Given the description of an element on the screen output the (x, y) to click on. 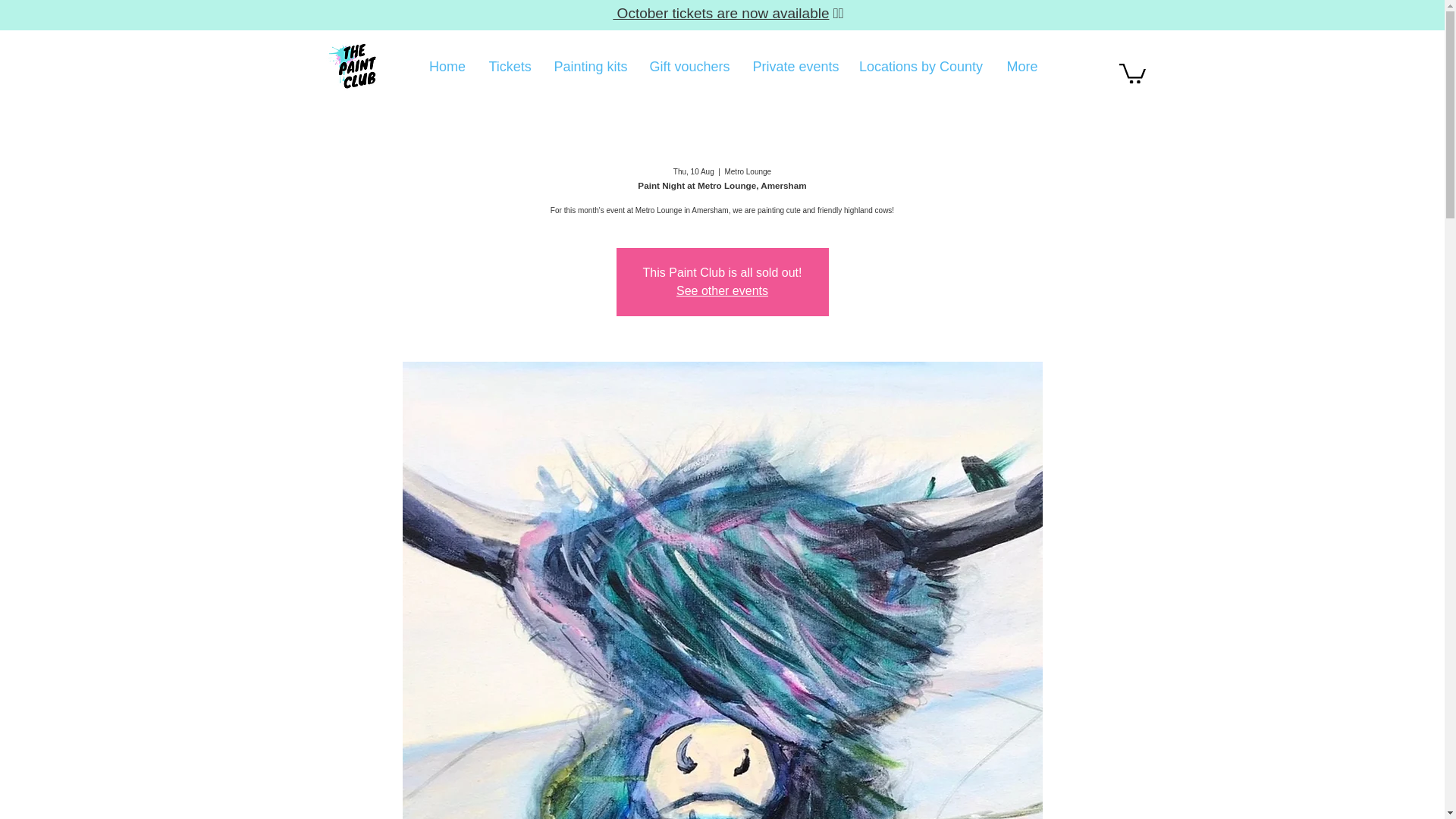
Home (446, 66)
 October tickets are now available (720, 12)
Tickets (510, 66)
